Given the description of an element on the screen output the (x, y) to click on. 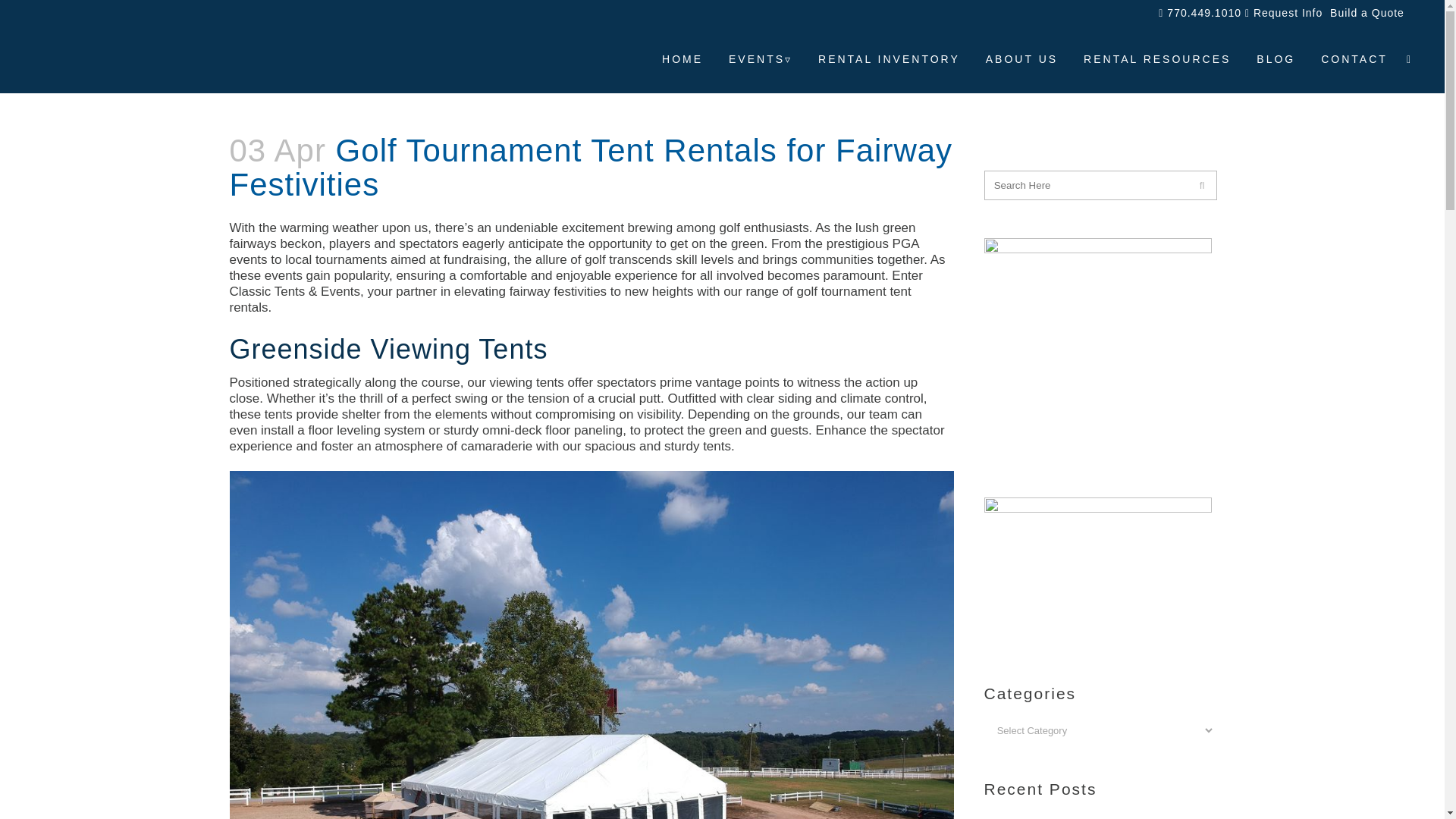
Request Info (1283, 12)
RENTAL INVENTORY (888, 59)
Build a Quote (1365, 12)
HOME (682, 59)
ABOUT US (1021, 59)
RENTAL RESOURCES (1156, 59)
770.449.1010 (1199, 12)
